Given the description of an element on the screen output the (x, y) to click on. 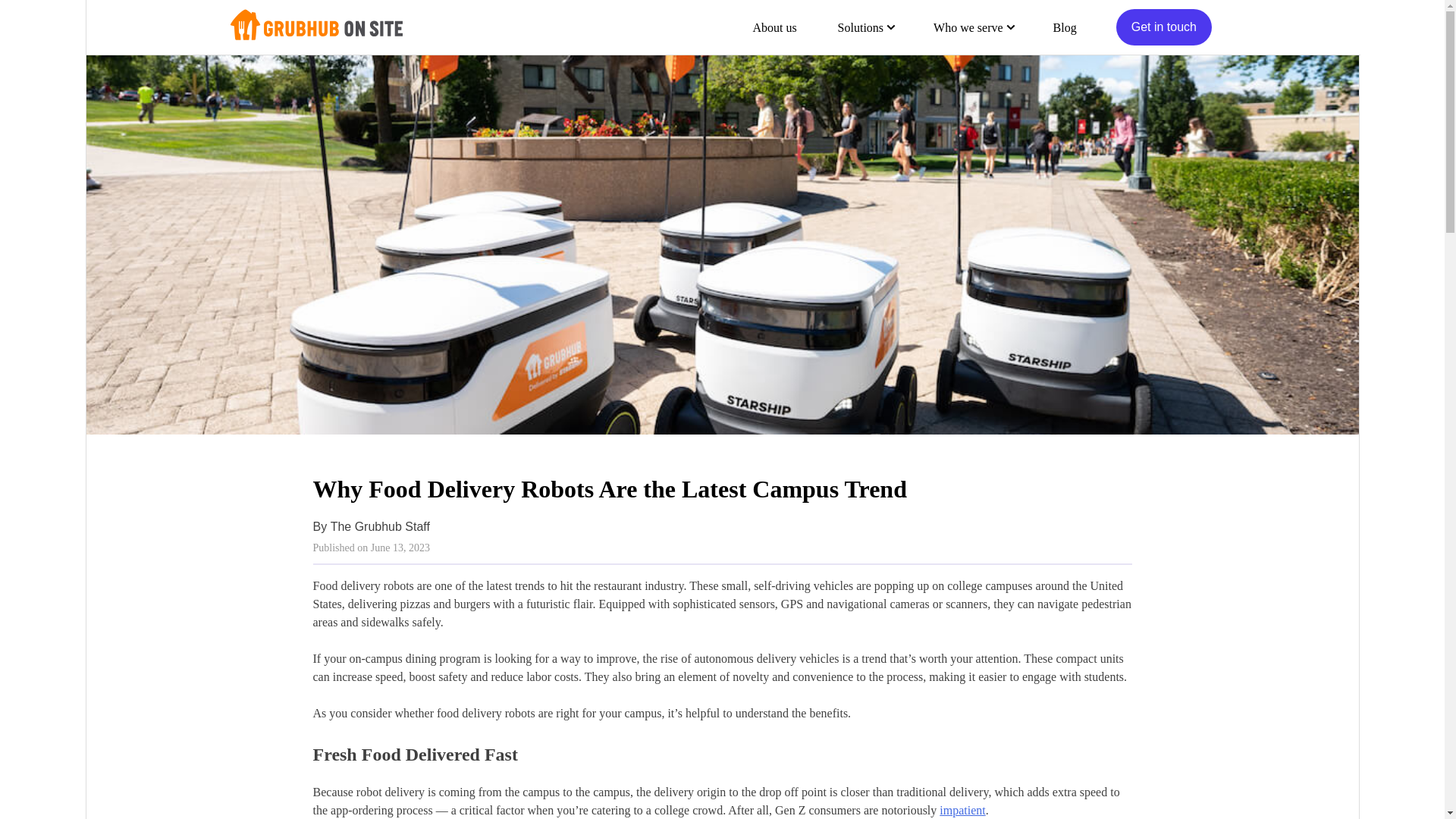
Who we serve (973, 27)
June 13, 2023 (400, 547)
Blog (1064, 27)
impatient (962, 809)
About us (773, 27)
Solutions (864, 27)
Get in touch (1163, 26)
